Given the description of an element on the screen output the (x, y) to click on. 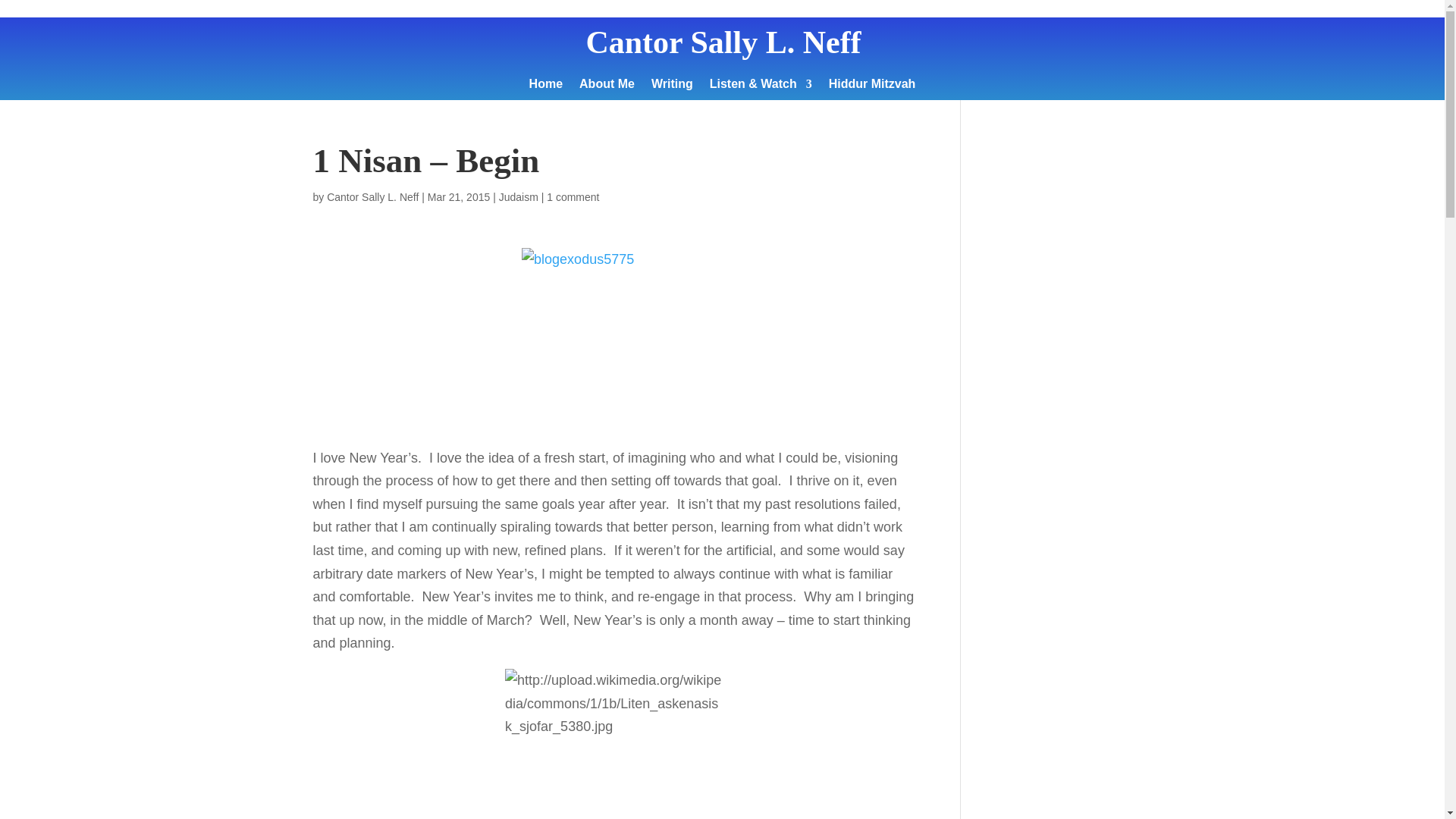
blogexodus5775 (613, 340)
About Me (606, 86)
Home (545, 86)
Posts by Cantor Sally L. Neff (372, 196)
Cantor Sally L. Neff (372, 196)
Judaism (518, 196)
1 comment (572, 196)
Writing (671, 86)
Hiddur Mitzvah (871, 86)
